Given the description of an element on the screen output the (x, y) to click on. 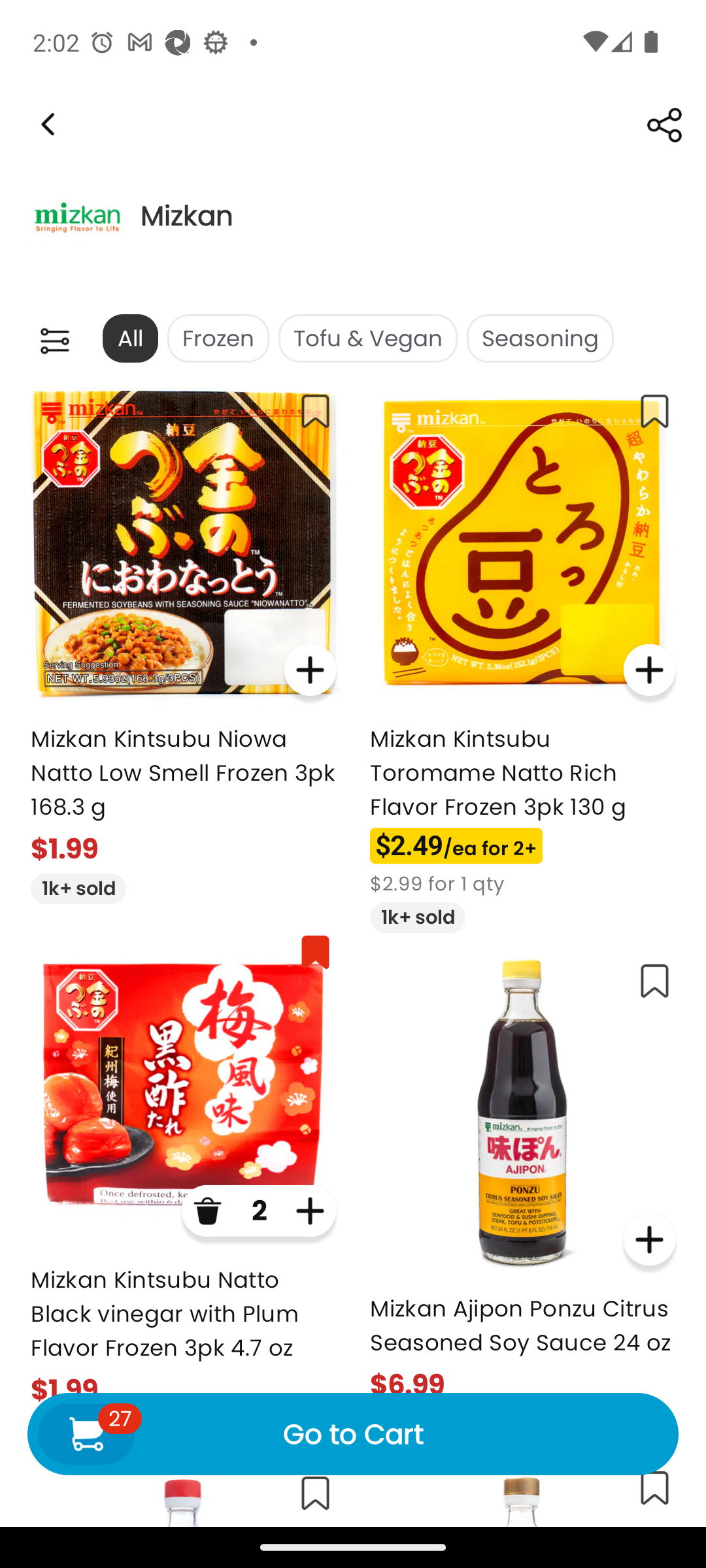
All (130, 338)
Frozen (217, 338)
Tofu & Vegan (367, 338)
Seasoning (539, 338)
27 Go to Cart (352, 1433)
